Given the description of an element on the screen output the (x, y) to click on. 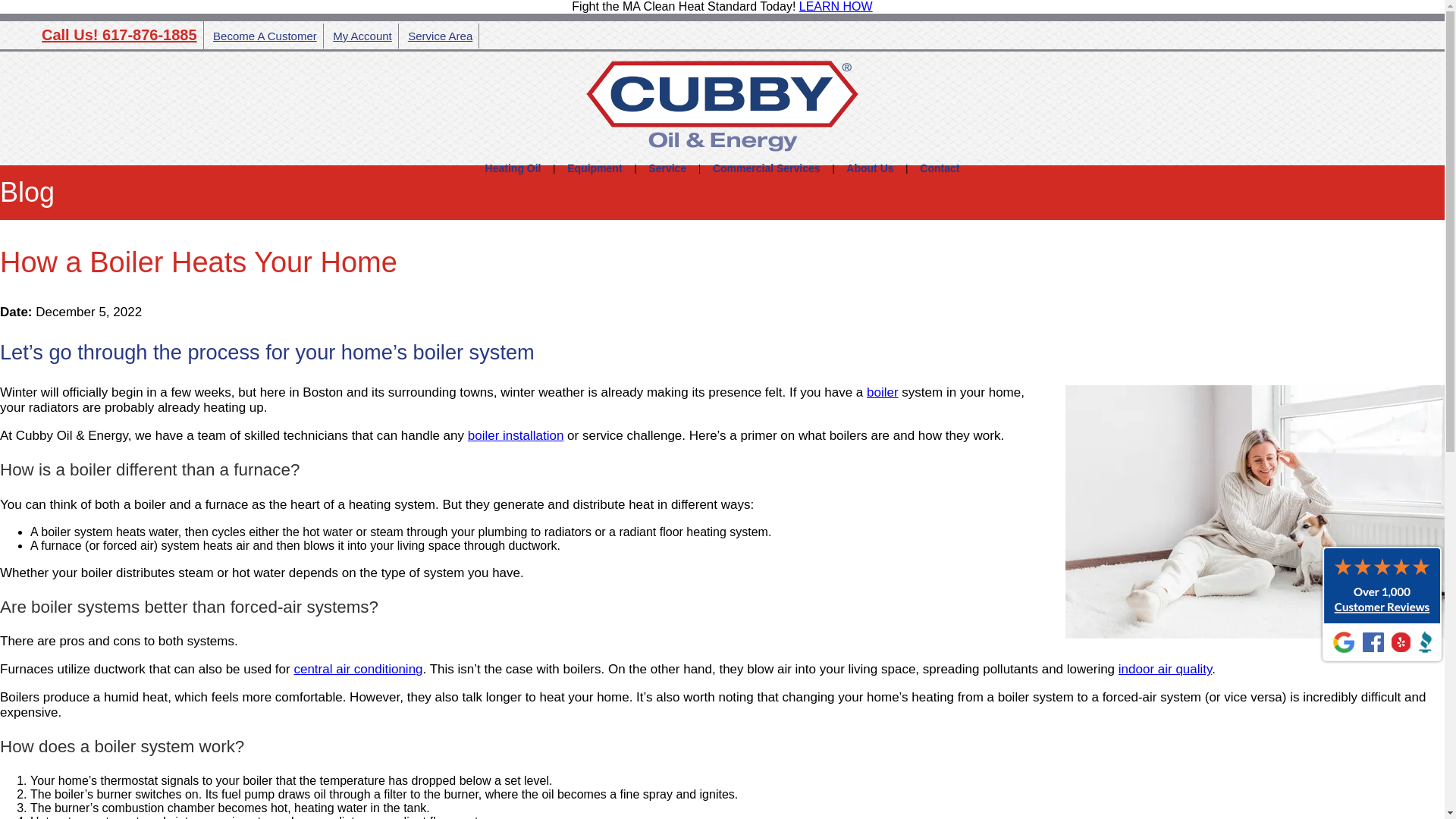
central air conditioning (358, 668)
indoor air quality (1164, 668)
boiler (882, 391)
boilers (515, 435)
